Given the description of an element on the screen output the (x, y) to click on. 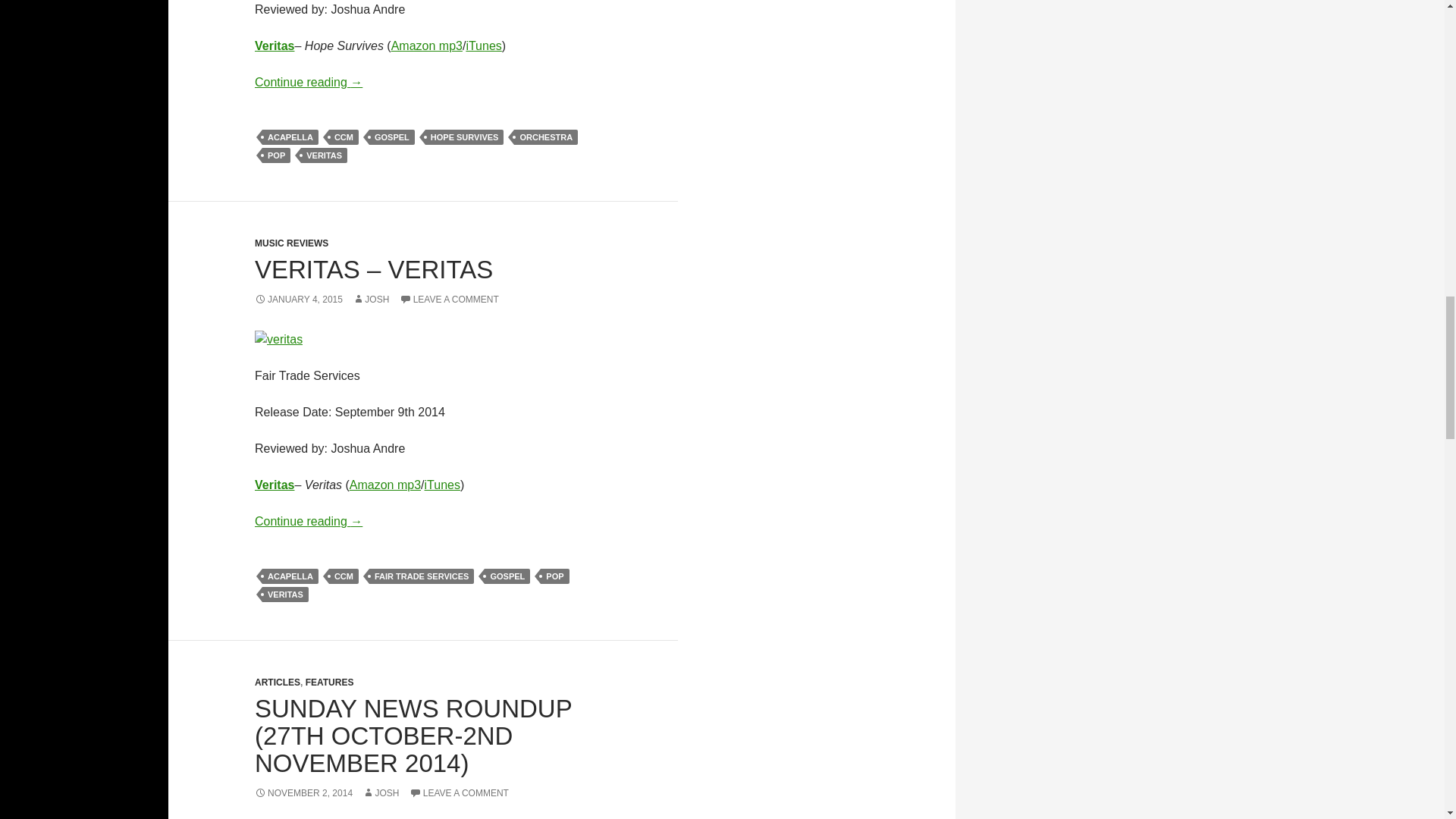
Veritas Amazon mp3 (384, 484)
Veritas Facebook (274, 484)
Veritas Veritas iTunes (442, 484)
